Given the description of an element on the screen output the (x, y) to click on. 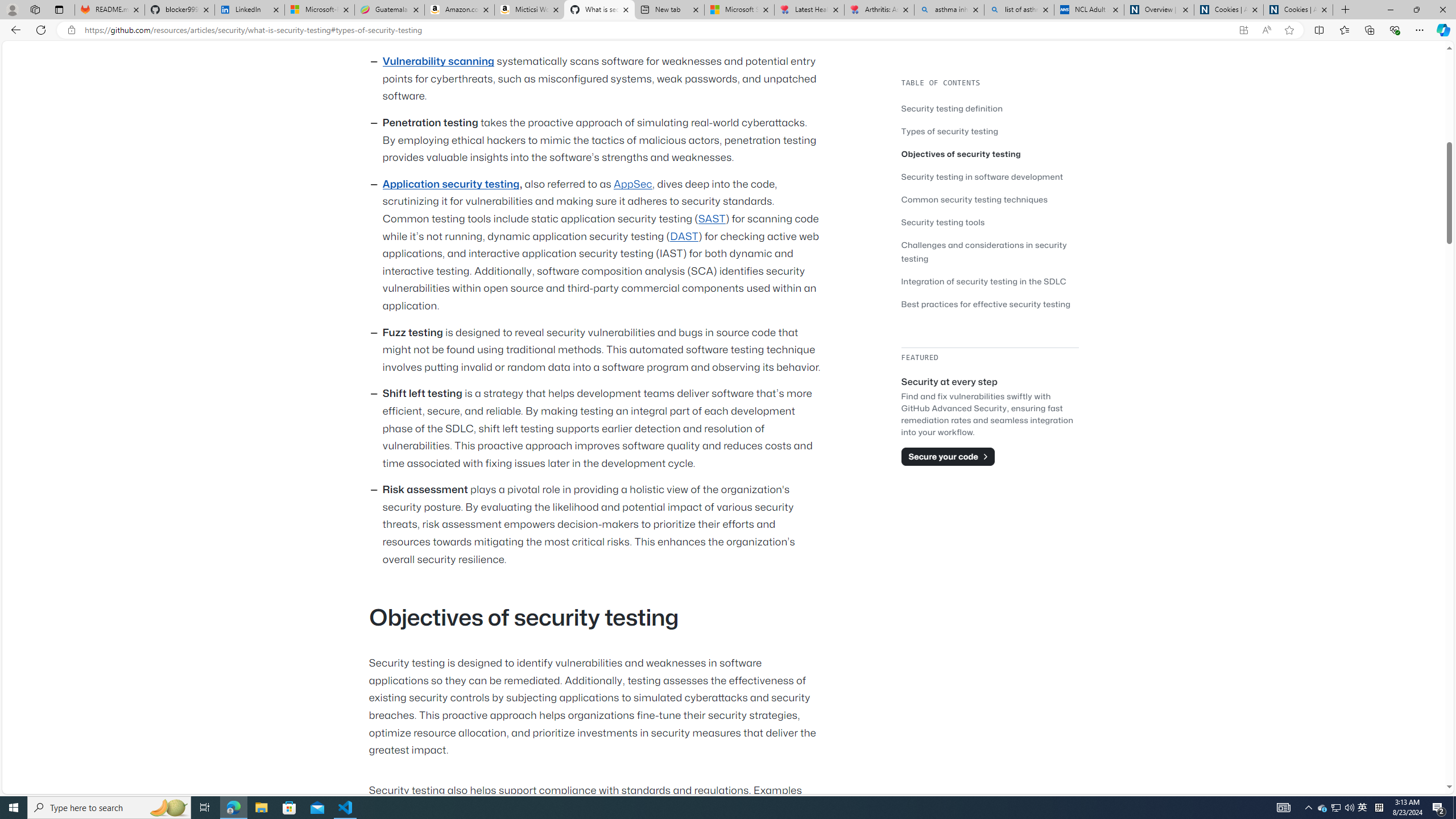
DAST (683, 236)
Challenges and considerations in security testing (984, 251)
